Given the description of an element on the screen output the (x, y) to click on. 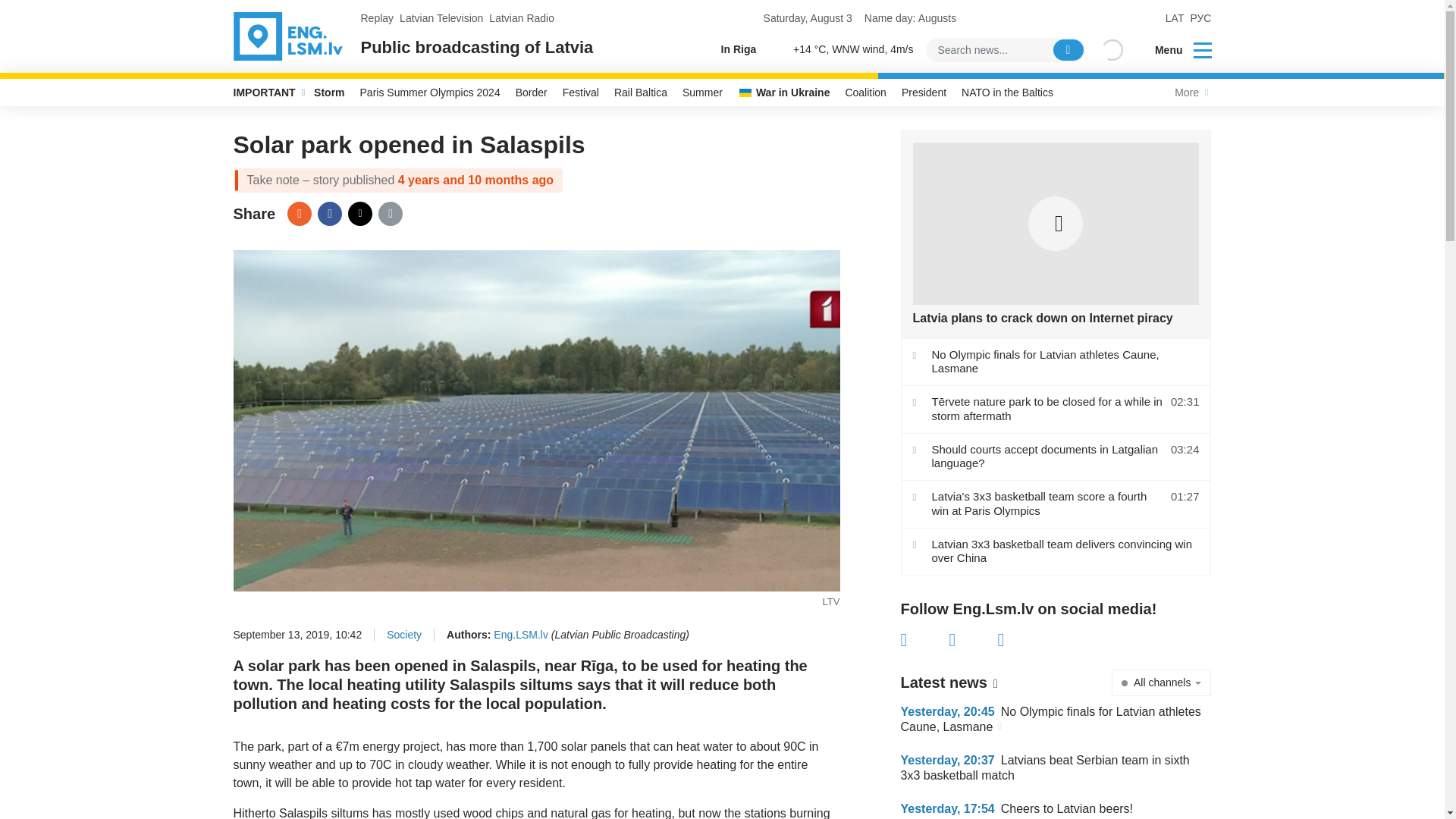
Draugiem (298, 213)
Storm (328, 92)
President (923, 92)
More (1189, 92)
NATO in the Baltics (1007, 92)
Topics (1202, 49)
Linkedin (1021, 639)
Facebook (925, 639)
Latvian Radio (521, 18)
Replay (377, 18)
Coalition (865, 92)
LAT (1175, 18)
War in Ukraine (784, 92)
Rail Baltica (641, 92)
X (359, 213)
